Given the description of an element on the screen output the (x, y) to click on. 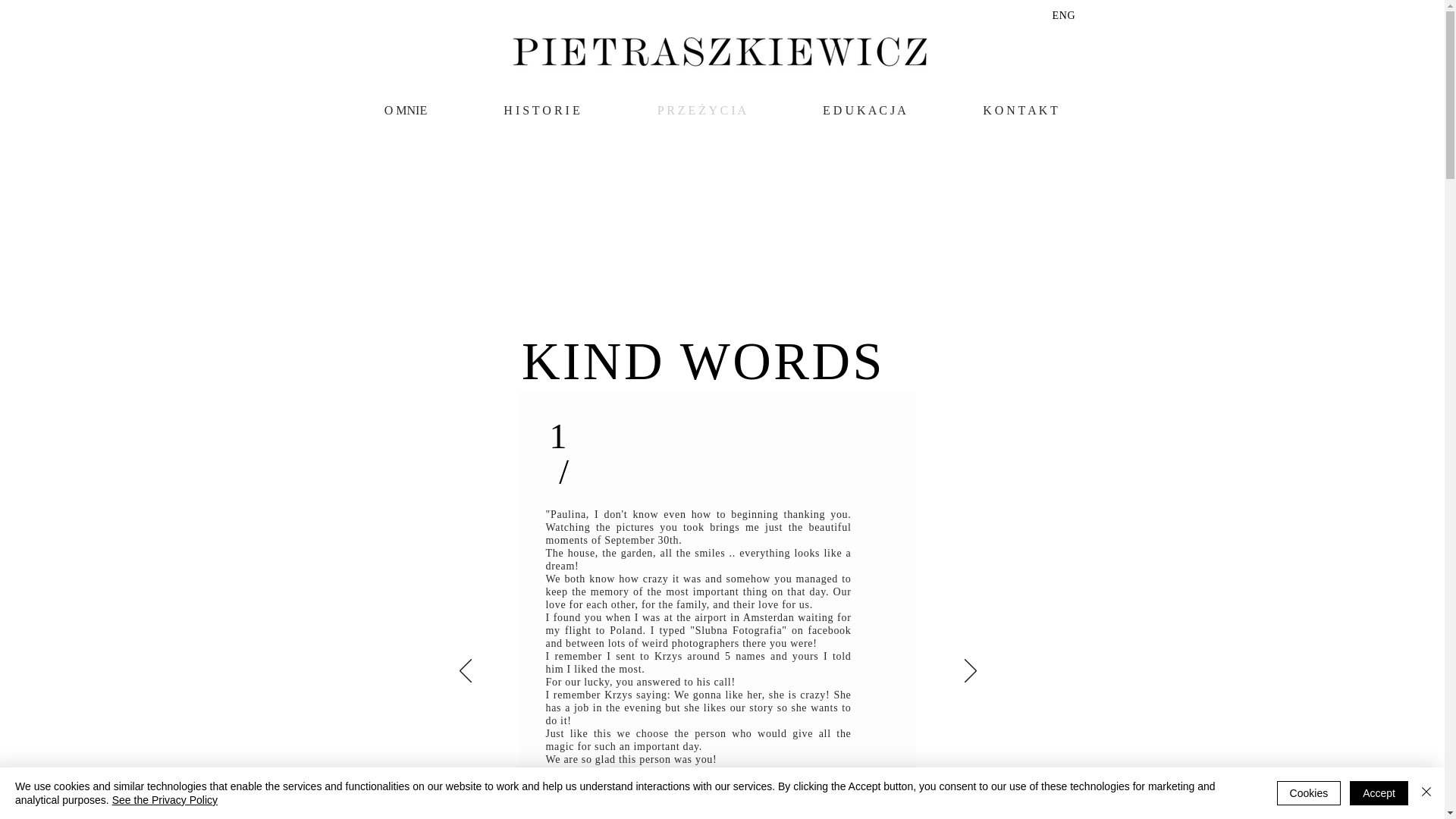
See the Privacy Policy (164, 799)
K O N T A K T (1020, 110)
Cookies (1308, 793)
Accept (1378, 793)
E D U K A C J A (863, 110)
O MNIE (405, 110)
ENG (1063, 15)
H I S T O R I E (541, 110)
